Given the description of an element on the screen output the (x, y) to click on. 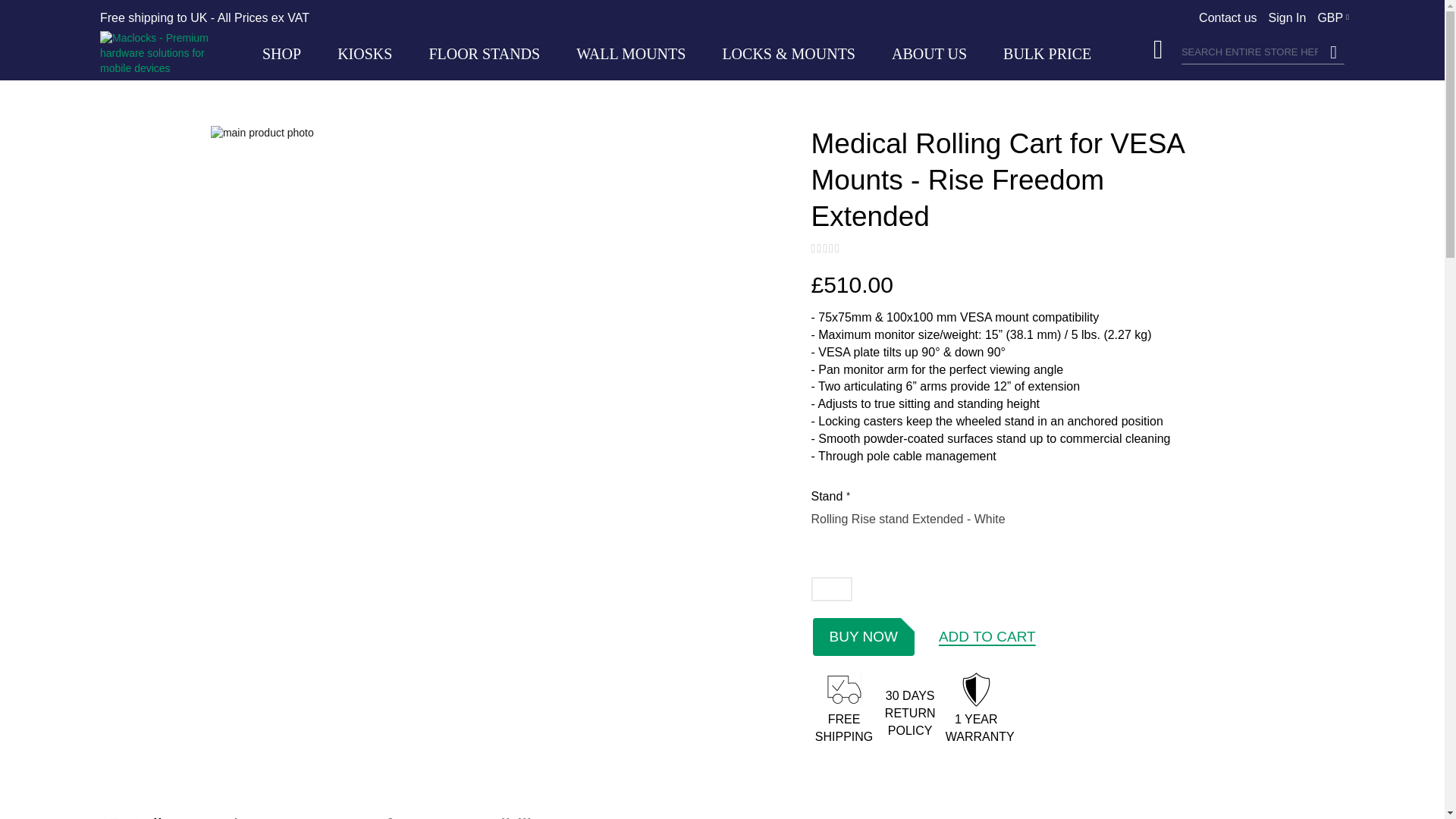
SHOP (281, 53)
Contact us (1227, 17)
Maclocks - Premium hardware solutions for mobile devices (172, 53)
Contact us (1227, 17)
1 (830, 589)
Free shipping to UK - All Prices ex VAT (204, 17)
Sign In (1287, 17)
Maclocks - Premium hardware solutions for mobile devices (162, 53)
SHOP (281, 53)
